Given the description of an element on the screen output the (x, y) to click on. 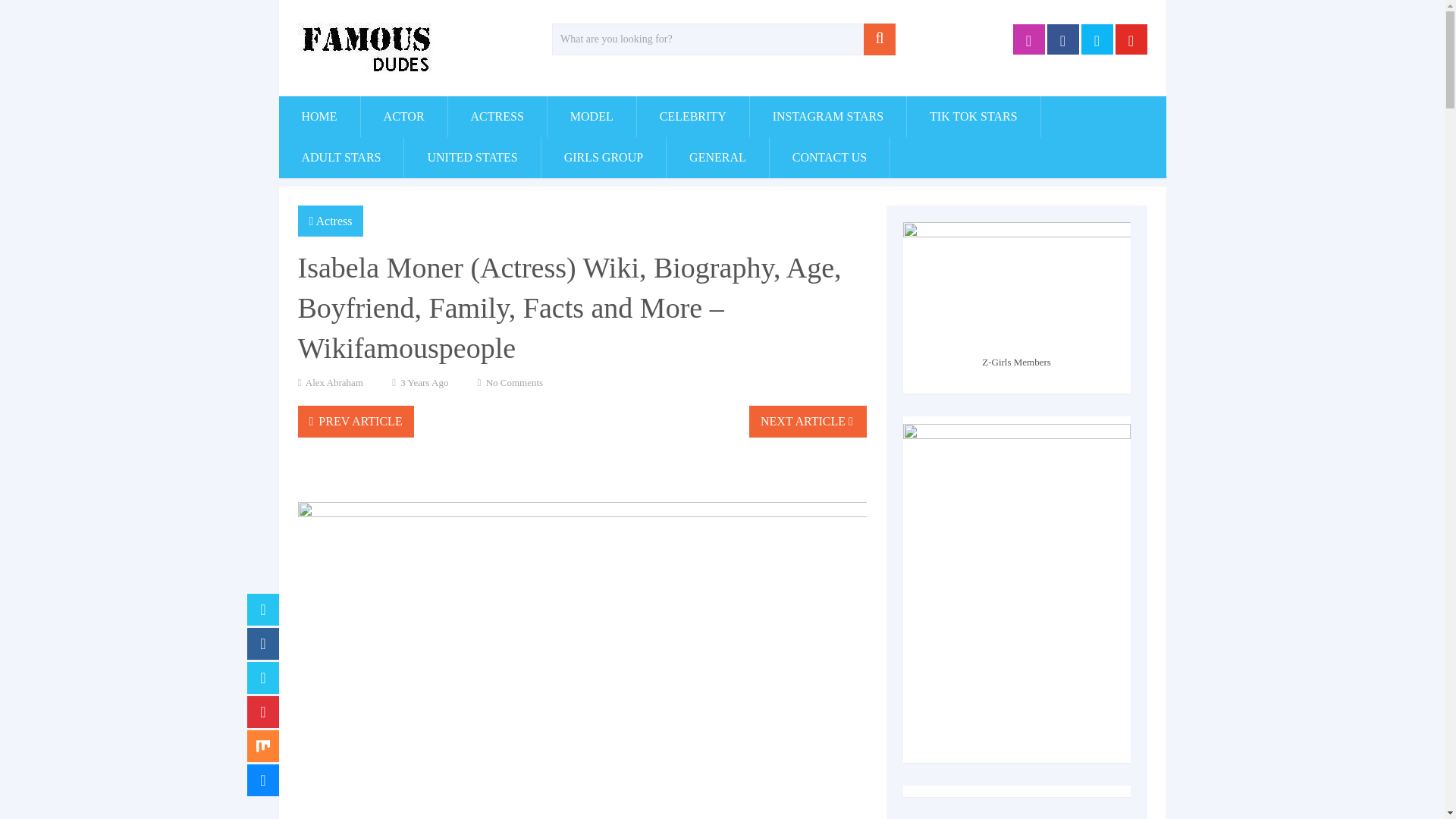
Actress (333, 220)
GIRLS GROUP (603, 157)
ACTOR (403, 116)
No Comments (514, 382)
HOME (319, 116)
NEXT ARTICLE (807, 421)
CELEBRITY (693, 116)
CONTACT US (829, 157)
View all posts in Actress (333, 220)
TIK TOK STARS (973, 116)
GENERAL (717, 157)
PREV ARTICLE (355, 421)
ADULT STARS (341, 157)
ACTRESS (497, 116)
Posts by Alex Abraham (333, 382)
